Given the description of an element on the screen output the (x, y) to click on. 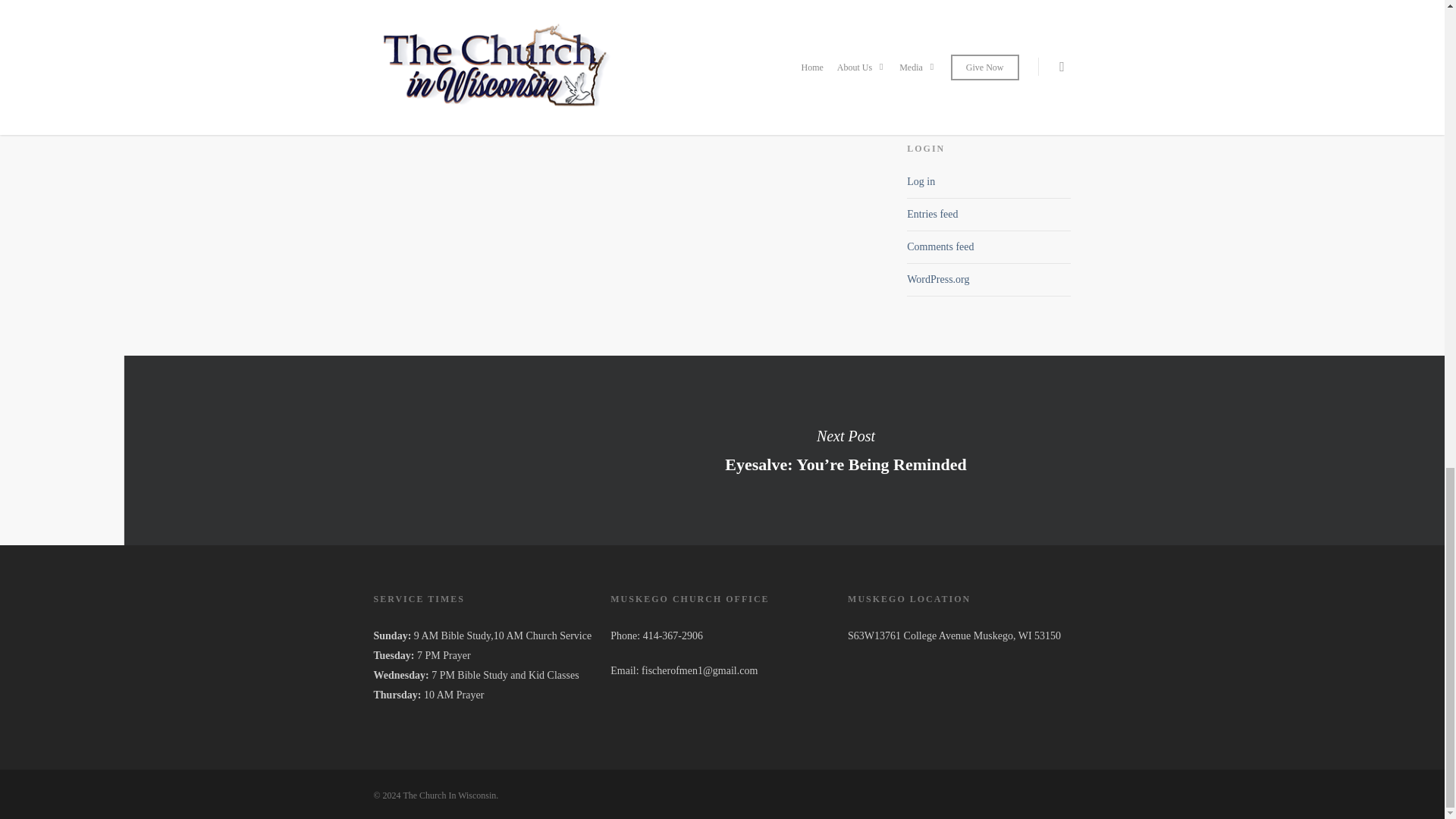
Comments feed (940, 246)
Log in (920, 181)
Entries feed (932, 214)
WordPress.org (938, 279)
